Given the description of an element on the screen output the (x, y) to click on. 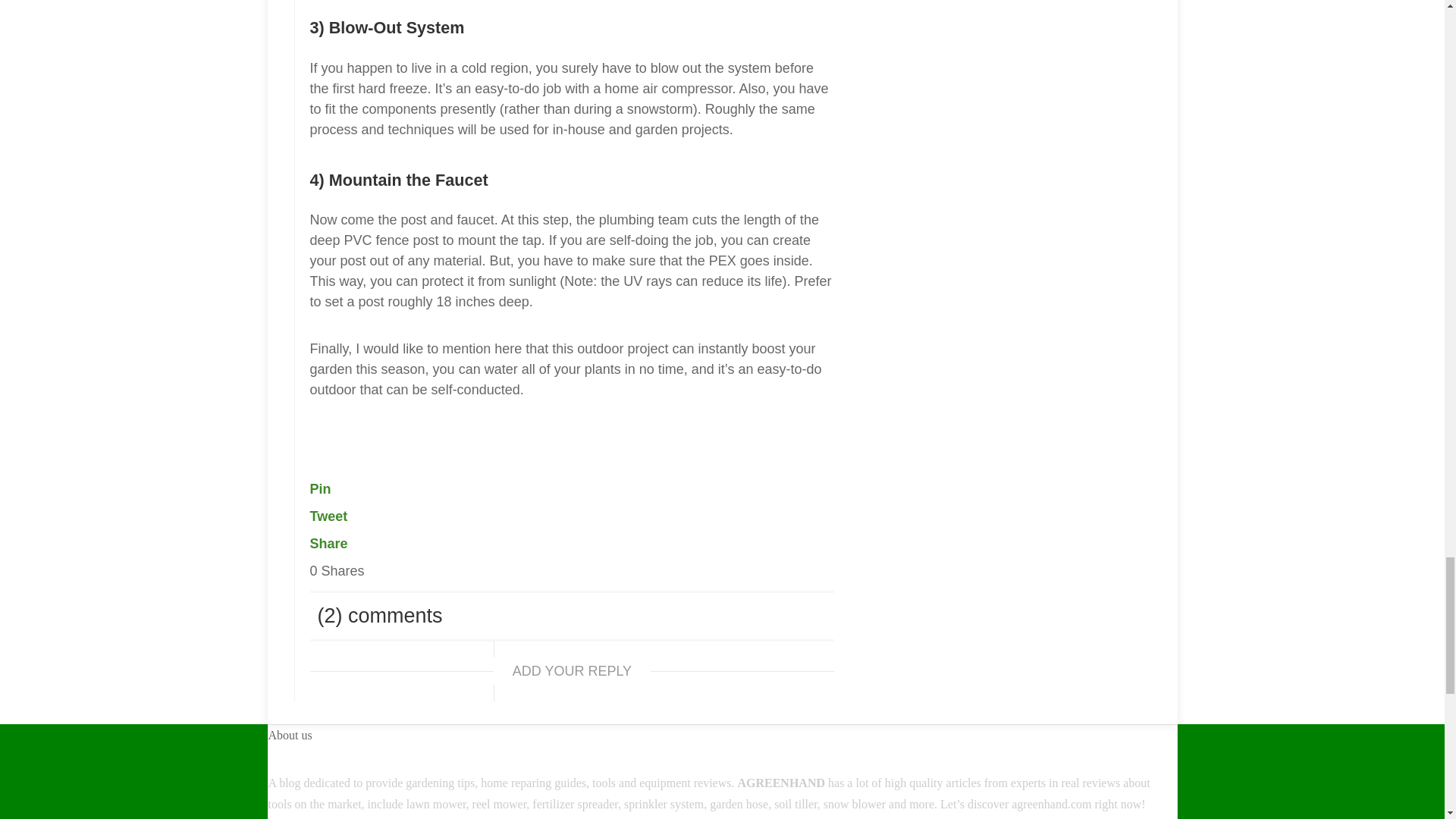
Tweet (327, 516)
Share (327, 543)
Pin (319, 488)
